Given the description of an element on the screen output the (x, y) to click on. 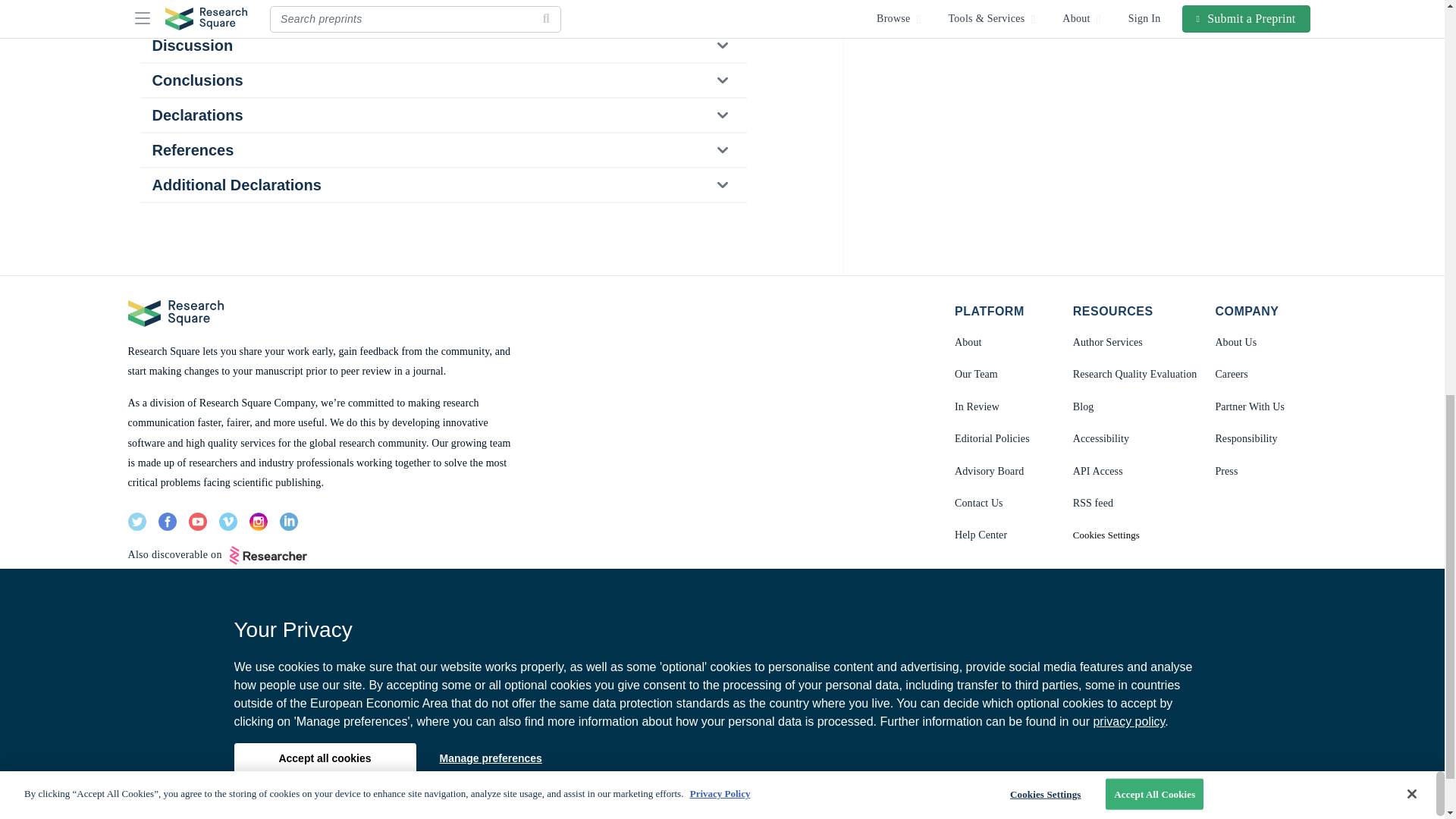
References (442, 150)
Discussion (442, 45)
Declarations (442, 114)
Results (442, 13)
Conclusions (442, 80)
Additional Declarations (442, 184)
